Given the description of an element on the screen output the (x, y) to click on. 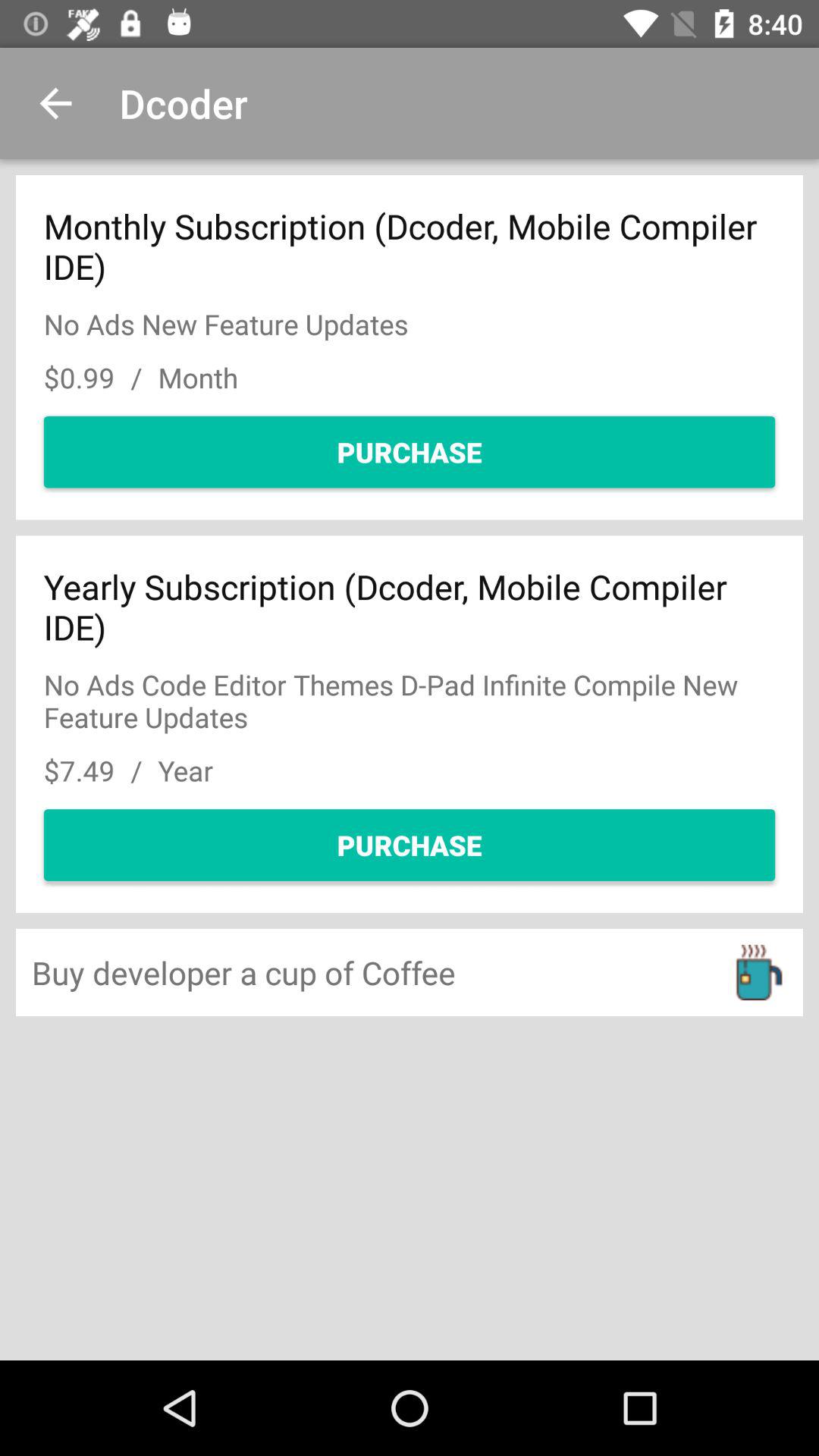
press the app next to dcoder icon (55, 103)
